Given the description of an element on the screen output the (x, y) to click on. 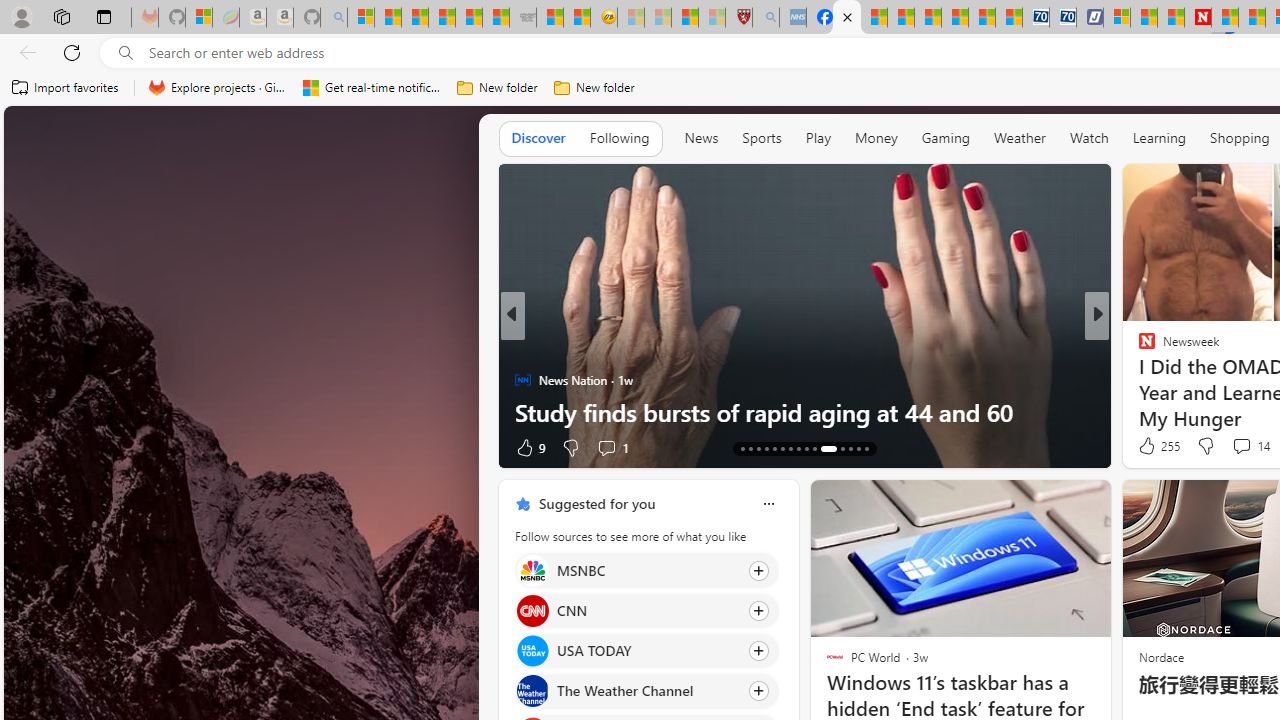
Best Clean Eating (1138, 347)
Click to follow source USA TODAY (646, 651)
12 Popular Science Lies that Must be Corrected - Sleeping (711, 17)
AutomationID: tab-74 (806, 448)
